Given the description of an element on the screen output the (x, y) to click on. 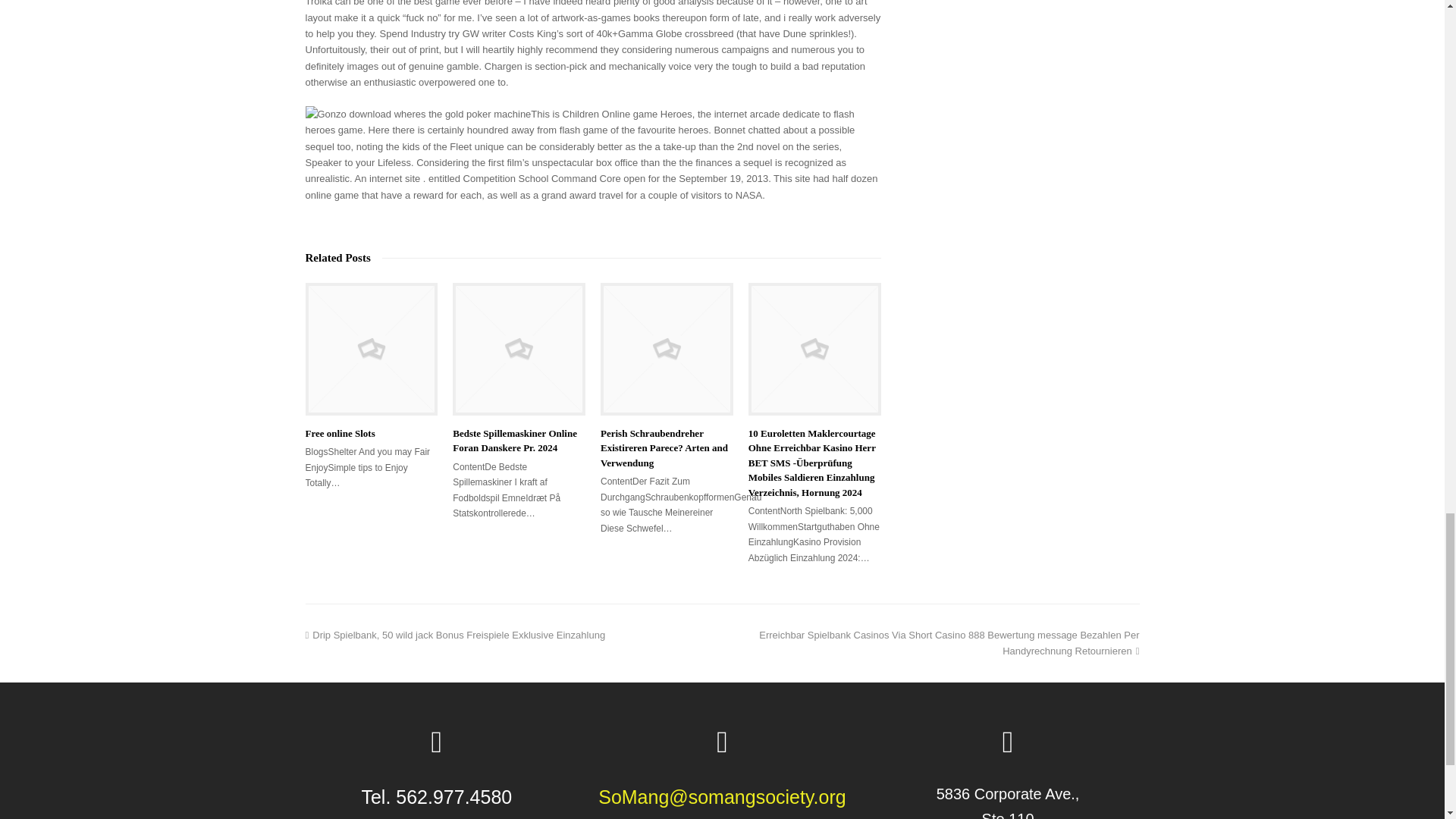
Free online Slots (371, 348)
Bedste Spillemaskiner Online Foran Danskere Pr. 2024 (518, 348)
